Given the description of an element on the screen output the (x, y) to click on. 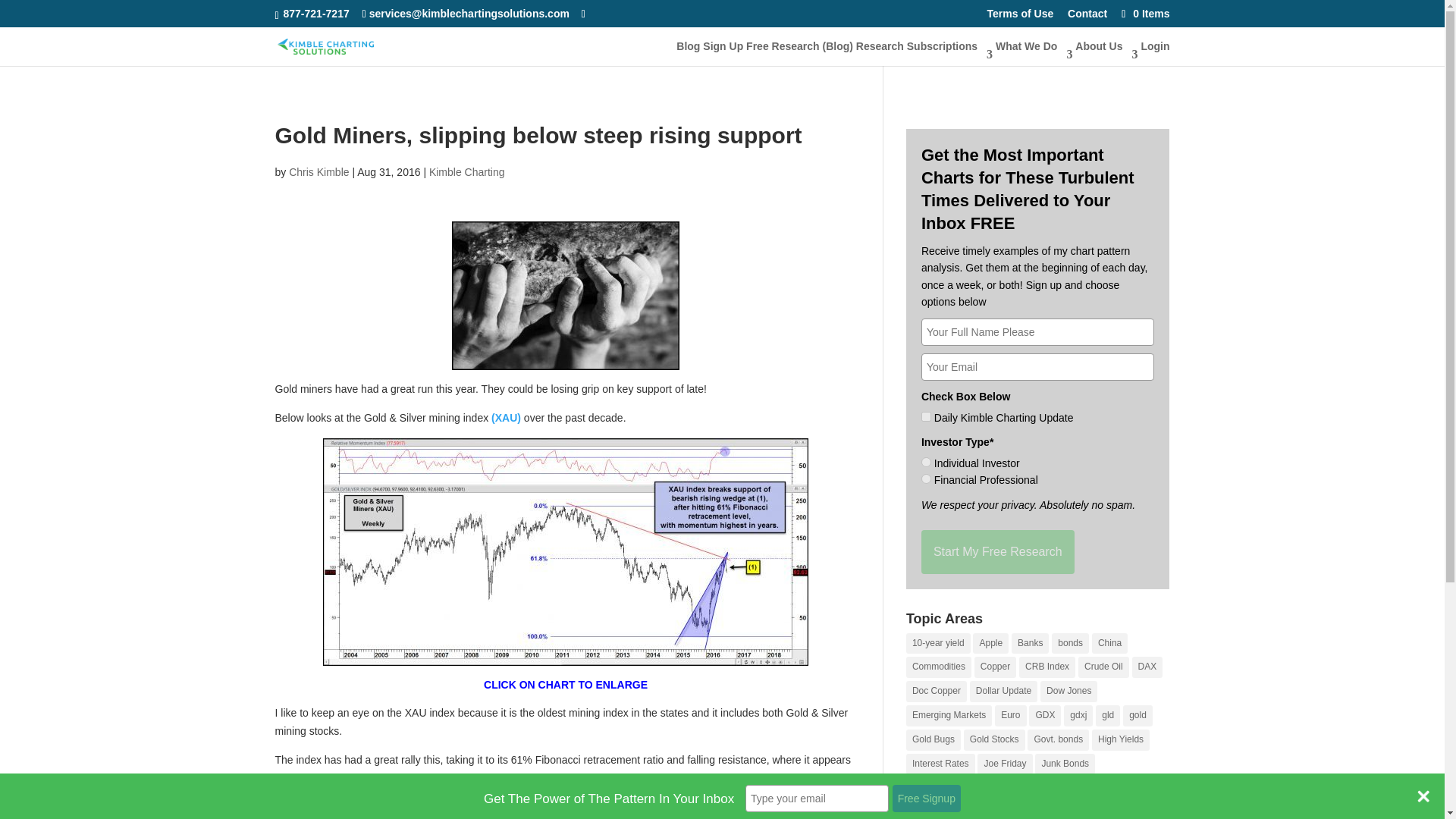
Individual Investor (926, 461)
Login (1154, 52)
Contact (1086, 16)
Blog Sign Up (709, 52)
0 Items (1143, 13)
Research Subscriptions (924, 52)
About Us (1106, 52)
Terms of Use (1020, 16)
Posts by Chris Kimble (318, 172)
Daily Kimble Charting Update (926, 416)
